Given the description of an element on the screen output the (x, y) to click on. 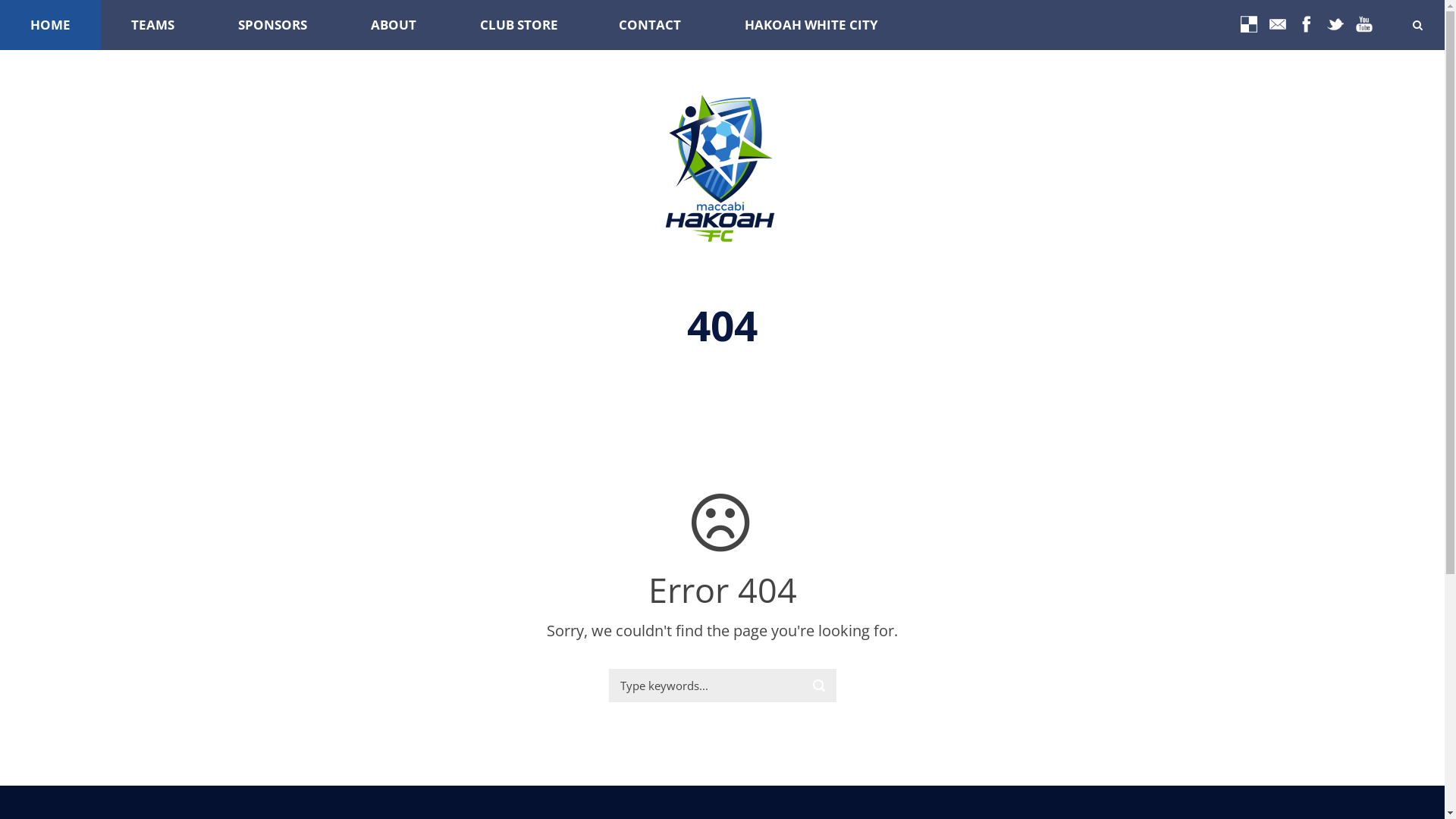
HAKOAH WHITE CITY Element type: text (811, 25)
SPONSORS Element type: text (273, 25)
CONTACT Element type: text (651, 25)
HOME Element type: text (50, 25)
ABOUT Element type: text (394, 25)
CLUB STORE Element type: text (518, 25)
TEAMS Element type: text (153, 25)
